Given the description of an element on the screen output the (x, y) to click on. 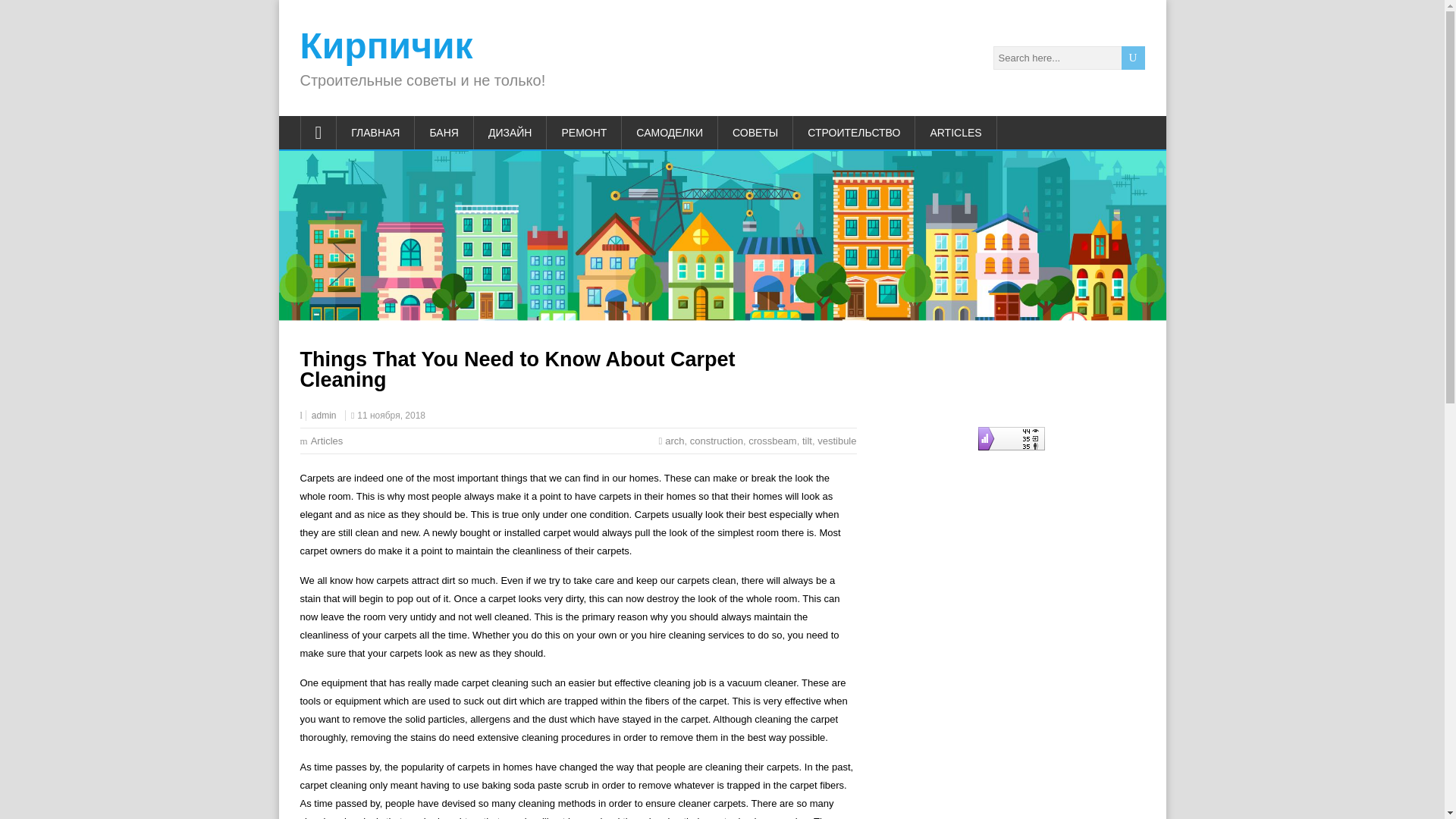
admin (323, 415)
arch (674, 440)
construction (716, 440)
U (1132, 57)
Articles (327, 440)
vestibule (836, 440)
crossbeam (772, 440)
U (1132, 57)
U (1132, 57)
ARTICLES (955, 132)
